Given the description of an element on the screen output the (x, y) to click on. 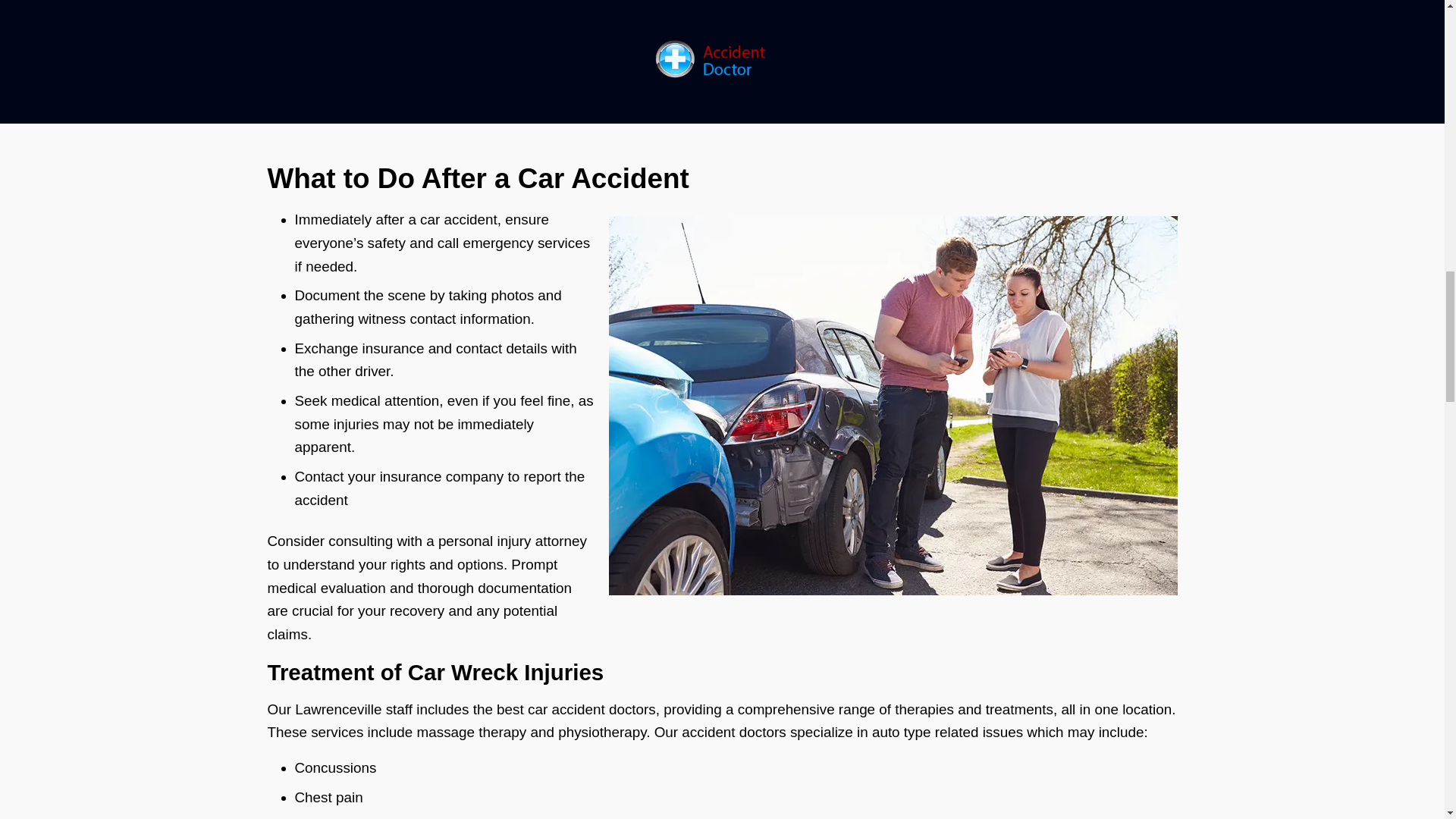
Personal injury doctors (979, 53)
Minor Car Accident you still need to see a doctor (1028, 10)
Doctors on Liens (960, 83)
